Given the description of an element on the screen output the (x, y) to click on. 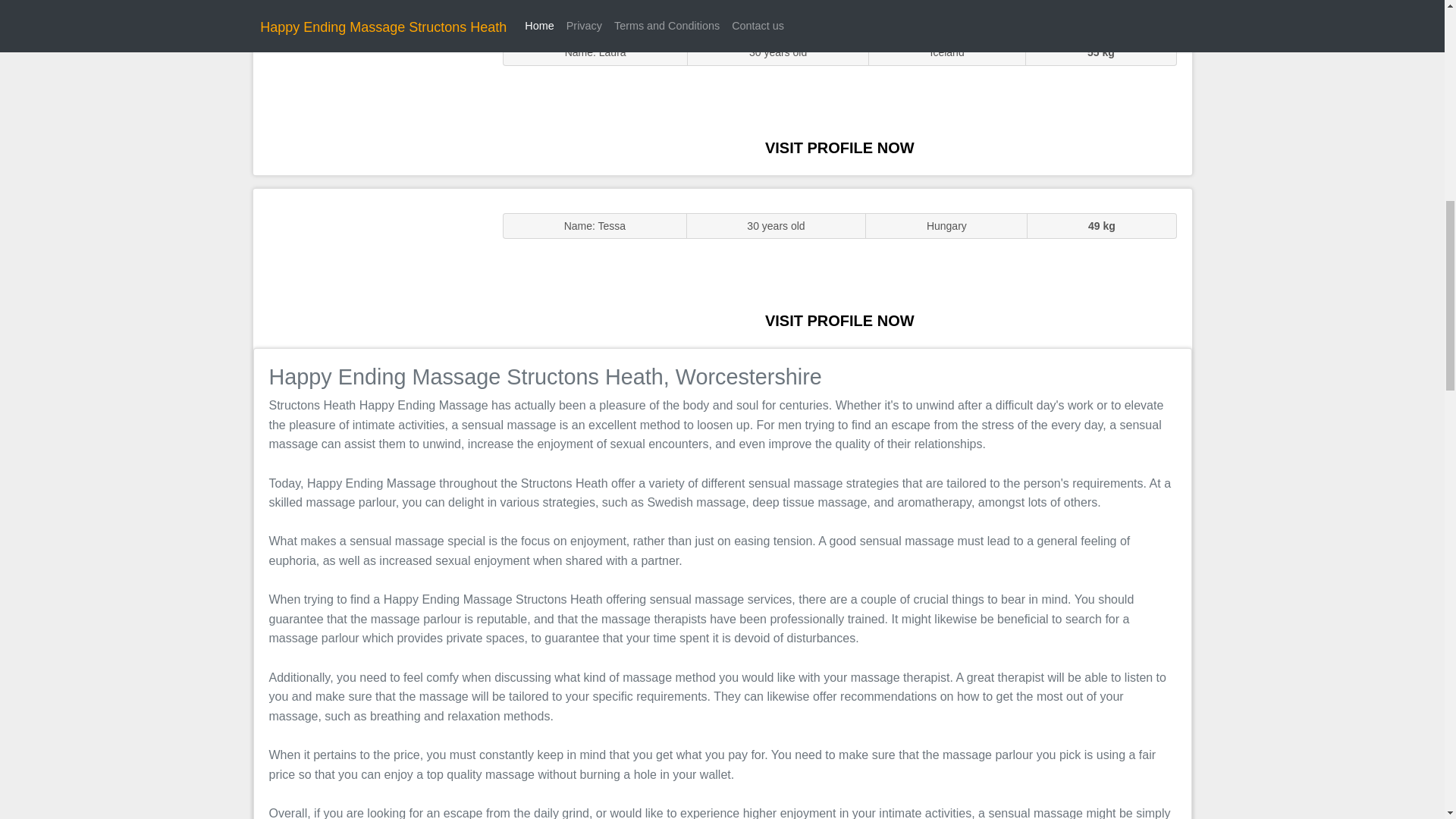
Massage (370, 267)
VISIT PROFILE NOW (839, 147)
Sluts (370, 94)
VISIT PROFILE NOW (839, 320)
